Given the description of an element on the screen output the (x, y) to click on. 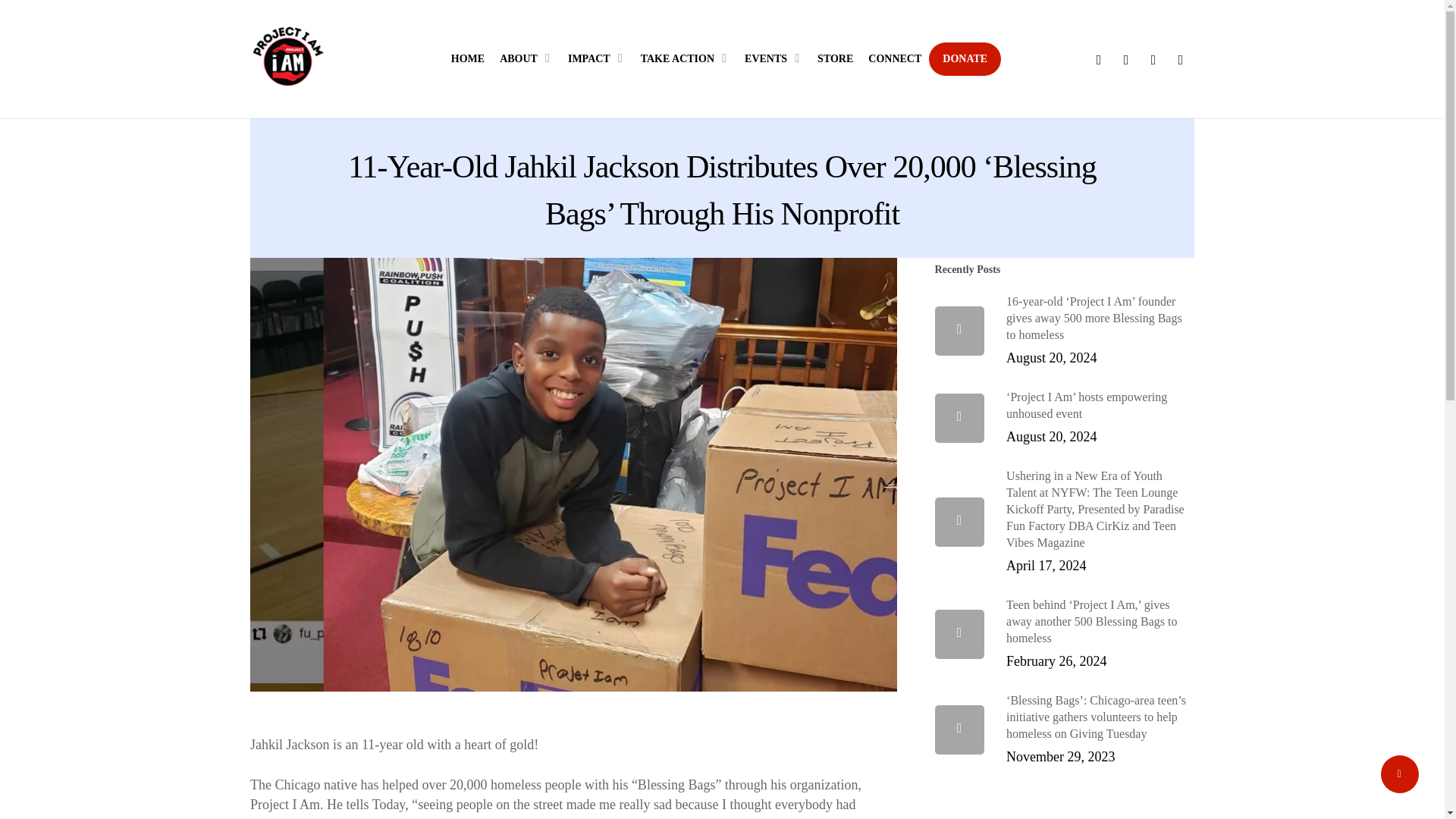
INSTAGRAM (1180, 58)
TAKE ACTION (684, 58)
DONATE (964, 59)
FACEBOOK (1126, 58)
EVENTS (772, 58)
IMPACT (596, 58)
ABOUT (526, 58)
LINKEDIN (1153, 58)
HOME (468, 58)
